Given the description of an element on the screen output the (x, y) to click on. 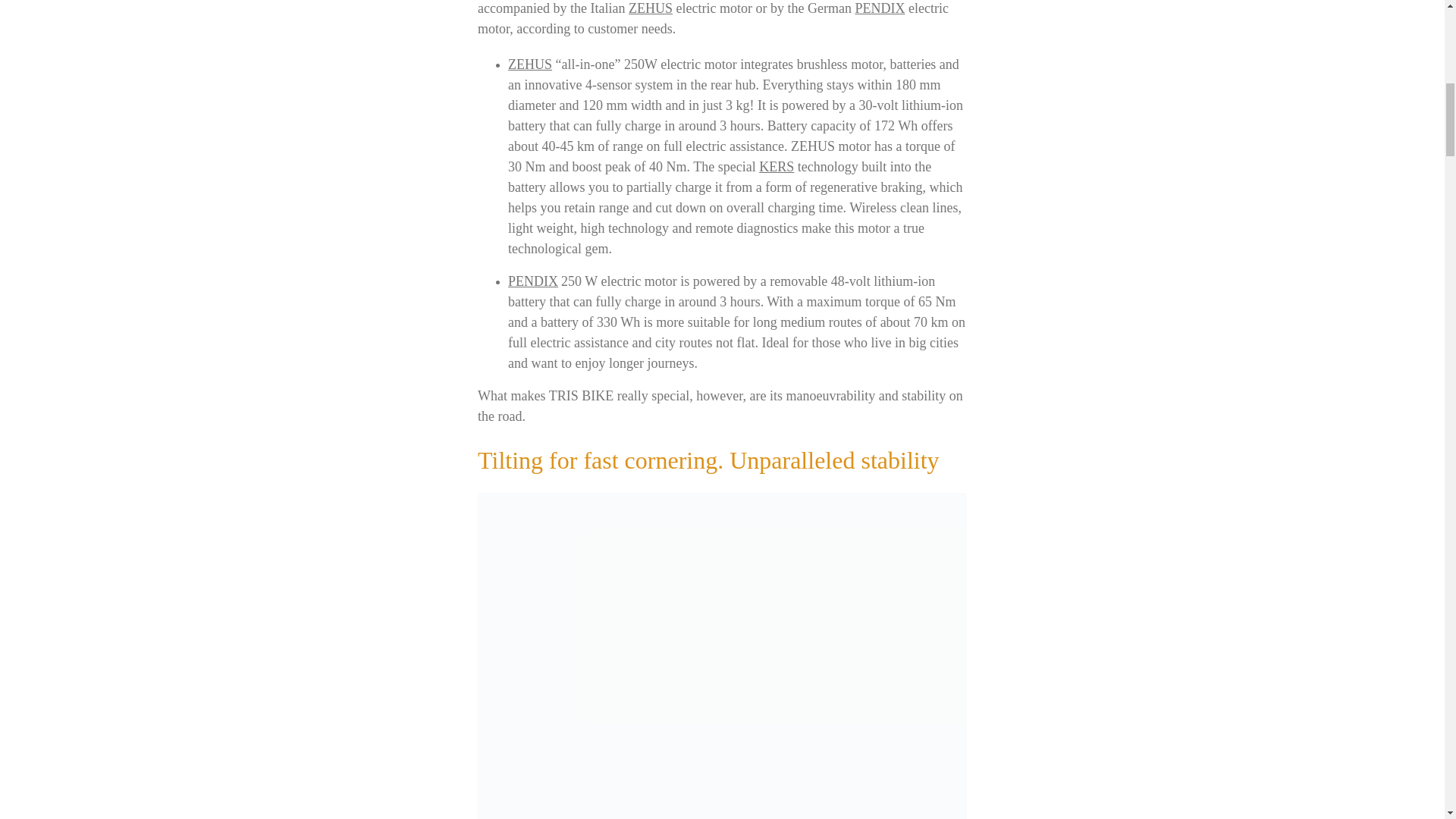
ZEHUS (650, 7)
KERS (775, 166)
ZEHUS (529, 64)
PENDIX (534, 281)
PENDIX (879, 7)
